Given the description of an element on the screen output the (x, y) to click on. 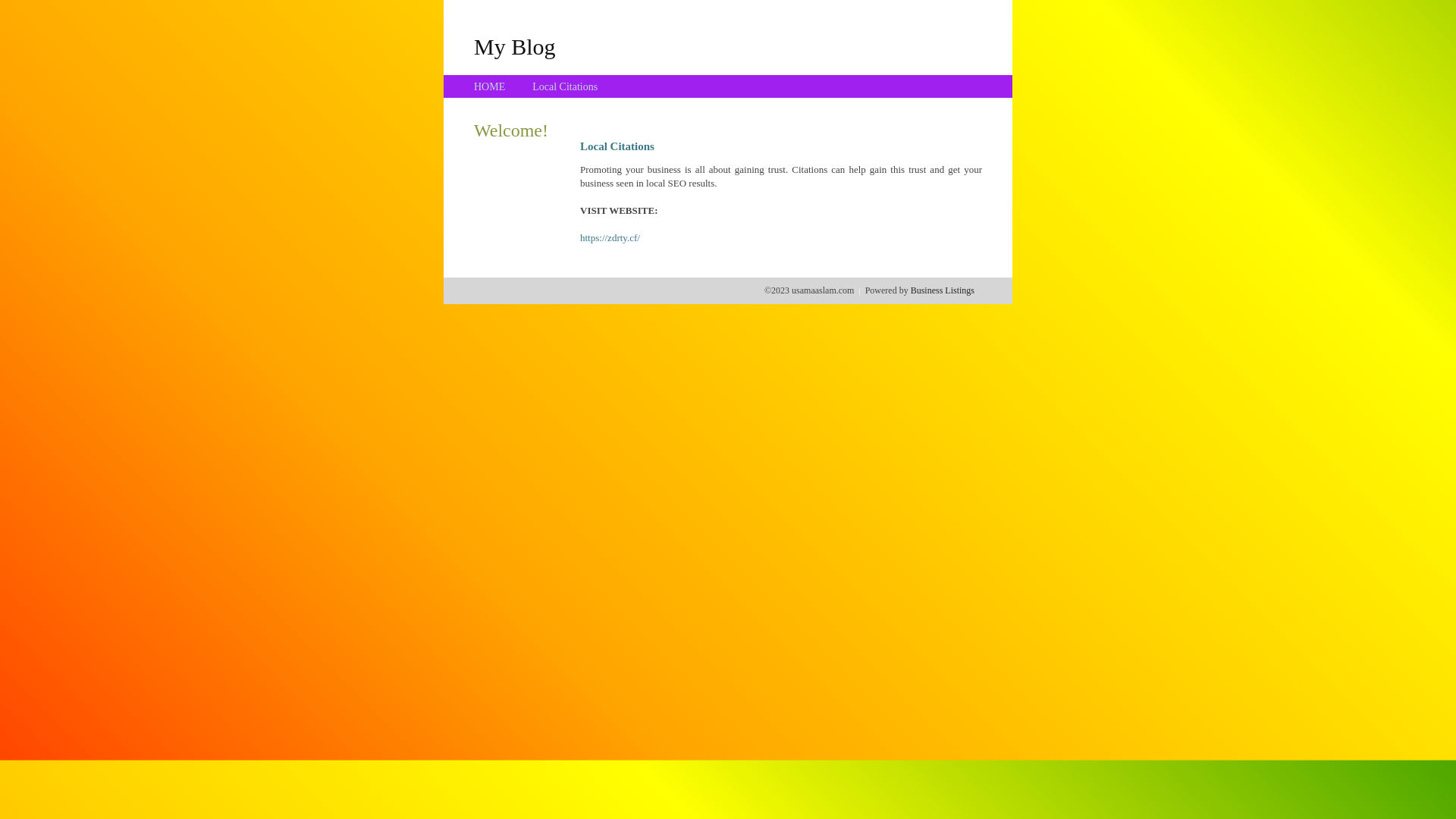
HOME Element type: text (489, 86)
My Blog Element type: text (514, 46)
Local Citations Element type: text (564, 86)
https://zdrty.cf/ Element type: text (610, 237)
Business Listings Element type: text (942, 290)
